Given the description of an element on the screen output the (x, y) to click on. 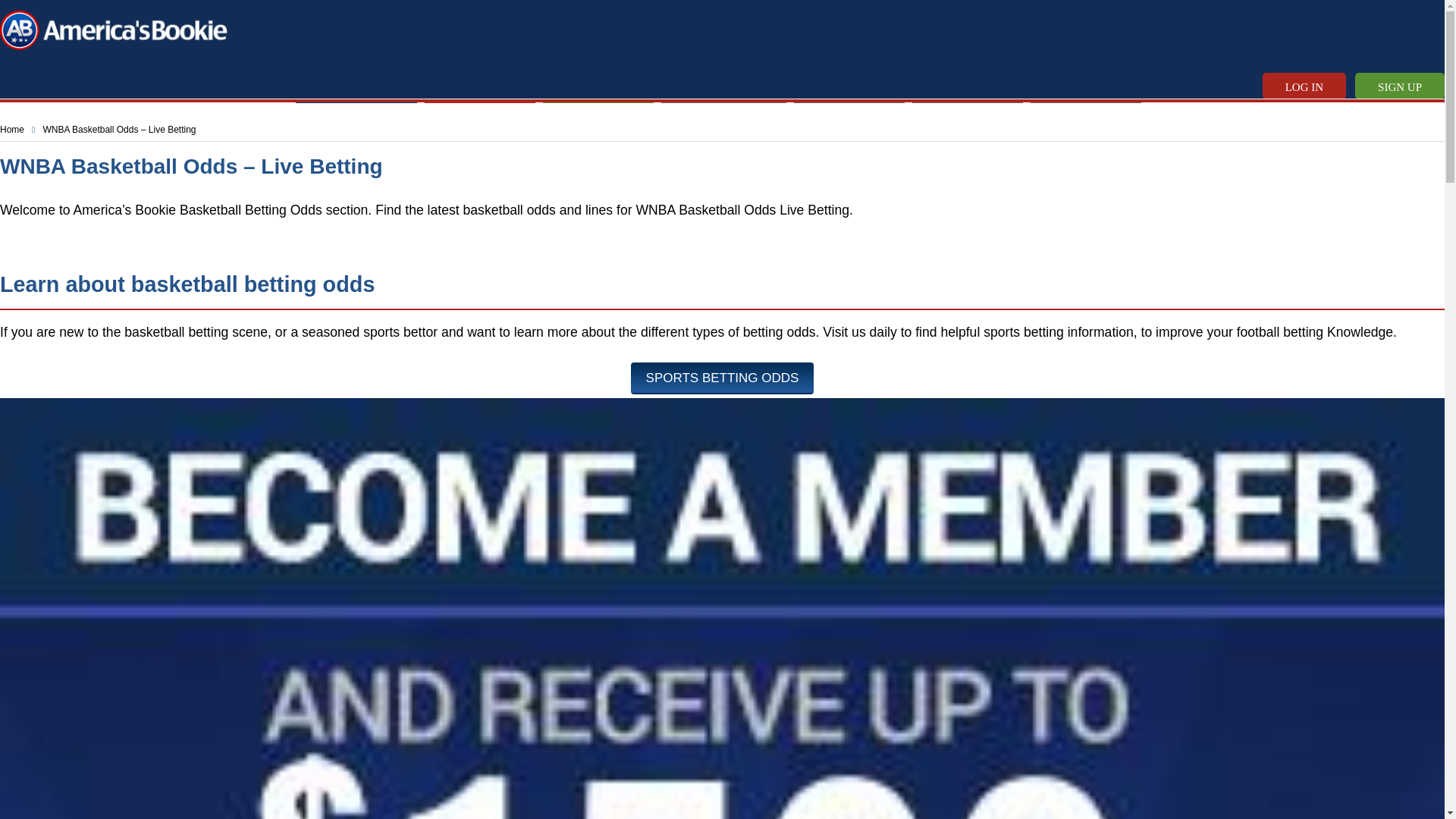
AmericasBookie Sportsbook (113, 29)
HORSES (585, 89)
Home (12, 129)
BONUSES (959, 89)
SPORTSBOOK (356, 89)
SPORTS BETTING ODDS (721, 377)
BANKING (838, 89)
REWARDS (1078, 89)
LOG IN (1303, 85)
SPORTS ODDS (723, 89)
CASINO (464, 89)
